Given the description of an element on the screen output the (x, y) to click on. 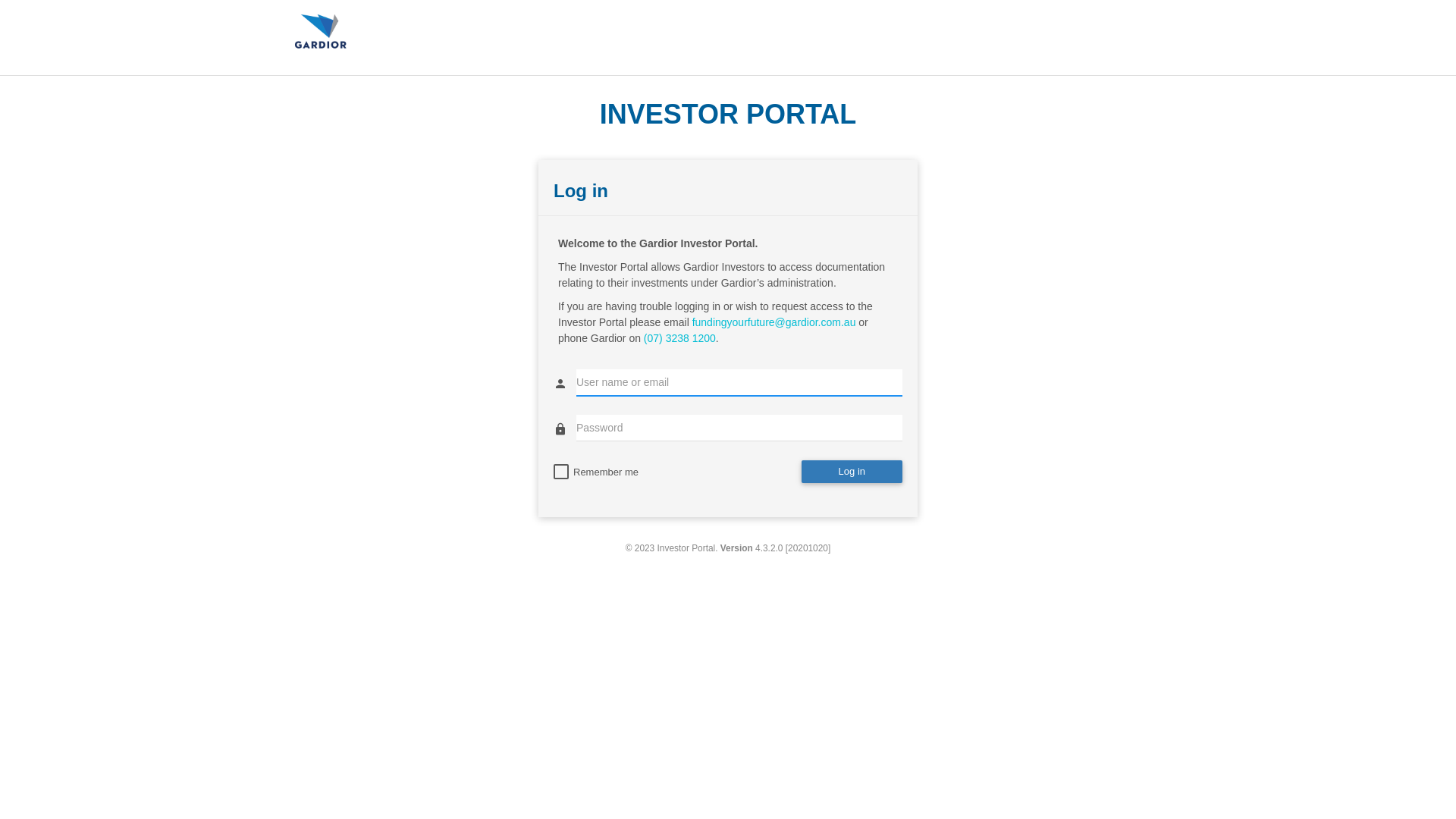
INVESTOR PORTAL Element type: text (727, 109)
Log in Element type: text (851, 471)
fundingyourfuture@gardior.com.au Element type: text (774, 322)
(07) 3238 1200 Element type: text (679, 338)
